Given the description of an element on the screen output the (x, y) to click on. 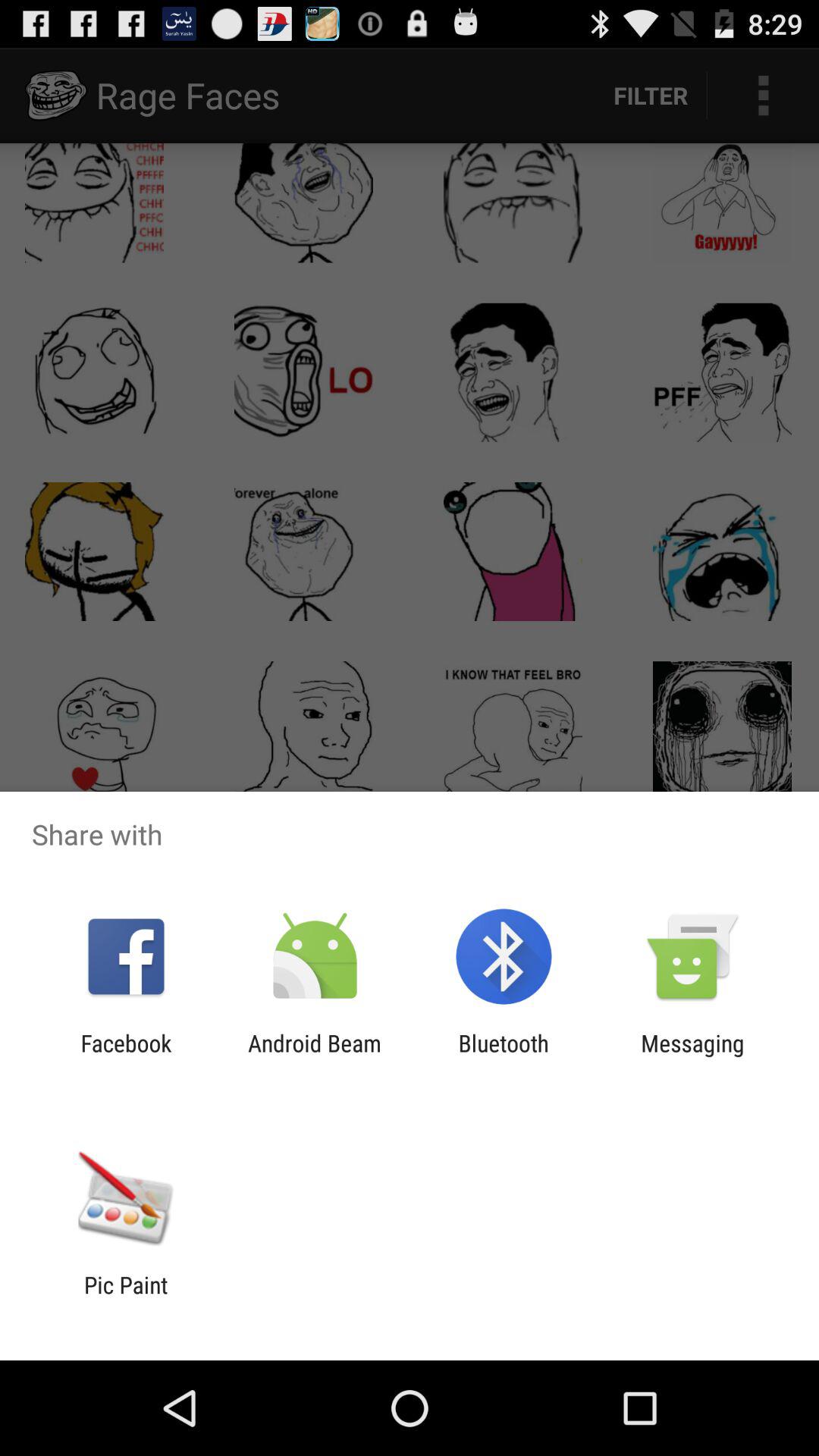
press pic paint item (125, 1298)
